Given the description of an element on the screen output the (x, y) to click on. 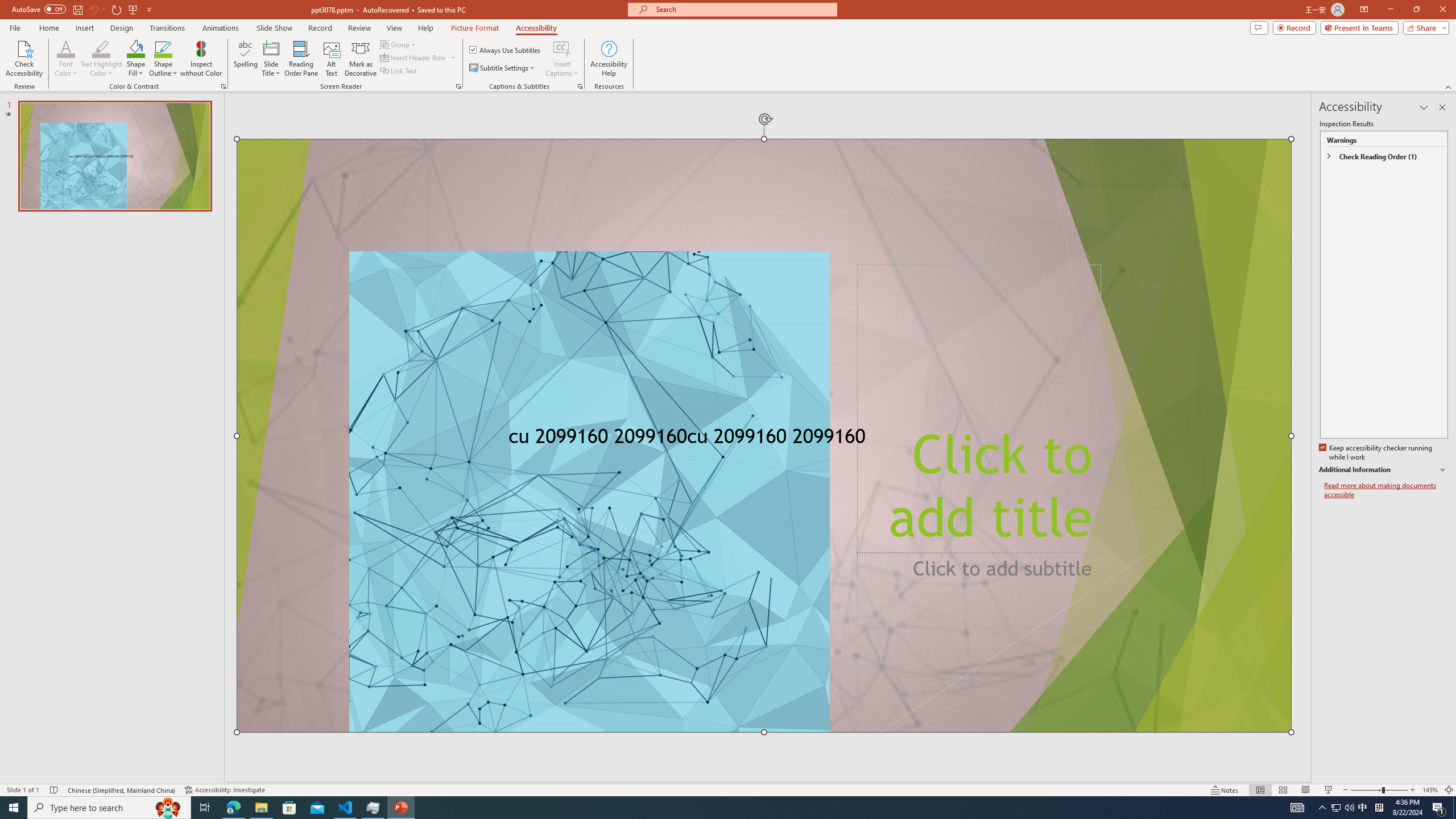
Reading Order Pane (301, 58)
Color & Contrast (223, 85)
